Given the description of an element on the screen output the (x, y) to click on. 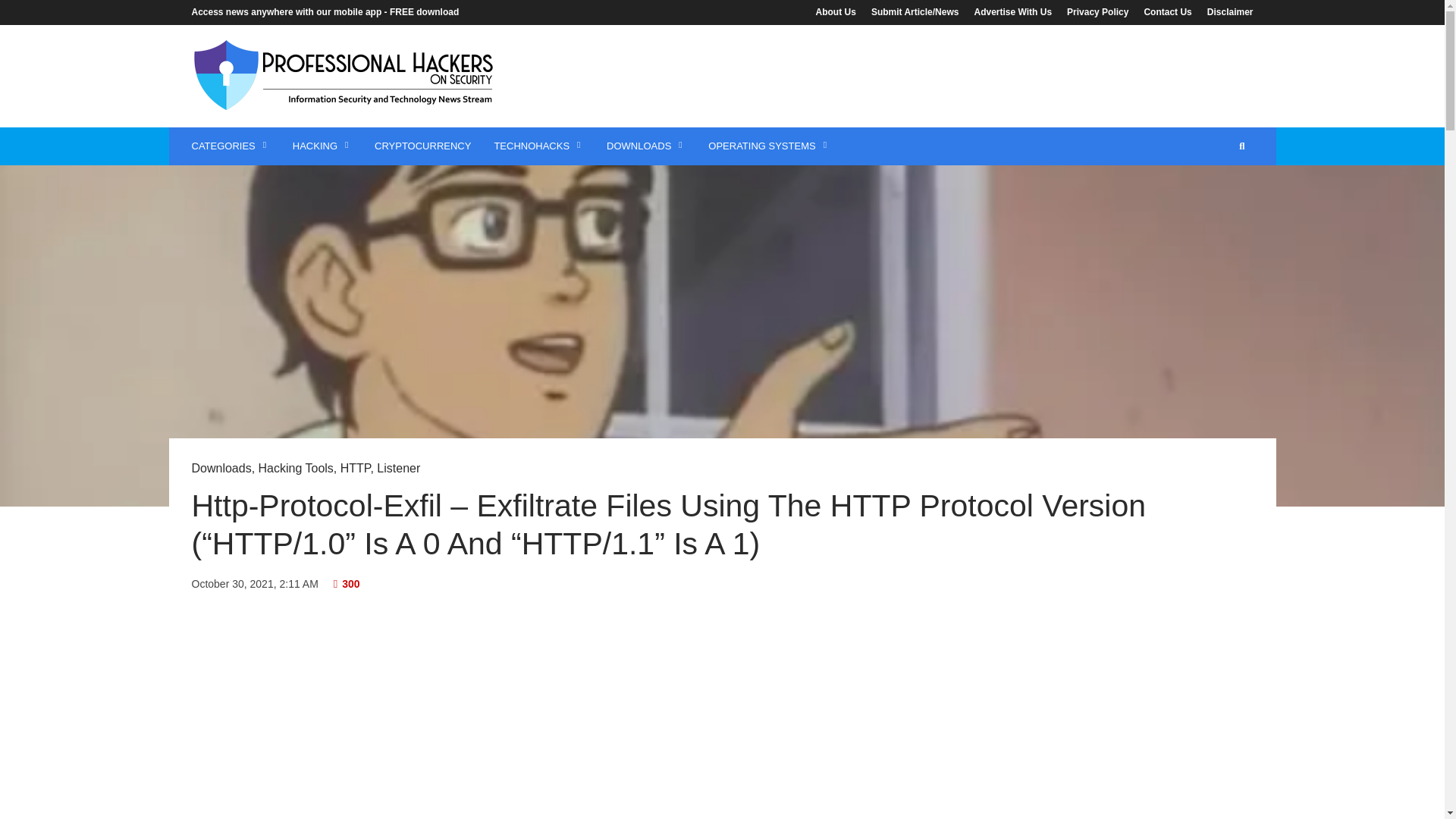
CATEGORIES (230, 146)
Advertisement (976, 74)
Disclaimer (1226, 11)
Views (346, 583)
About Us (839, 11)
Privacy Policy (1097, 11)
HACKING (321, 146)
FREE download (424, 11)
Advertise With Us (1012, 11)
Contact Us (1166, 11)
